Given the description of an element on the screen output the (x, y) to click on. 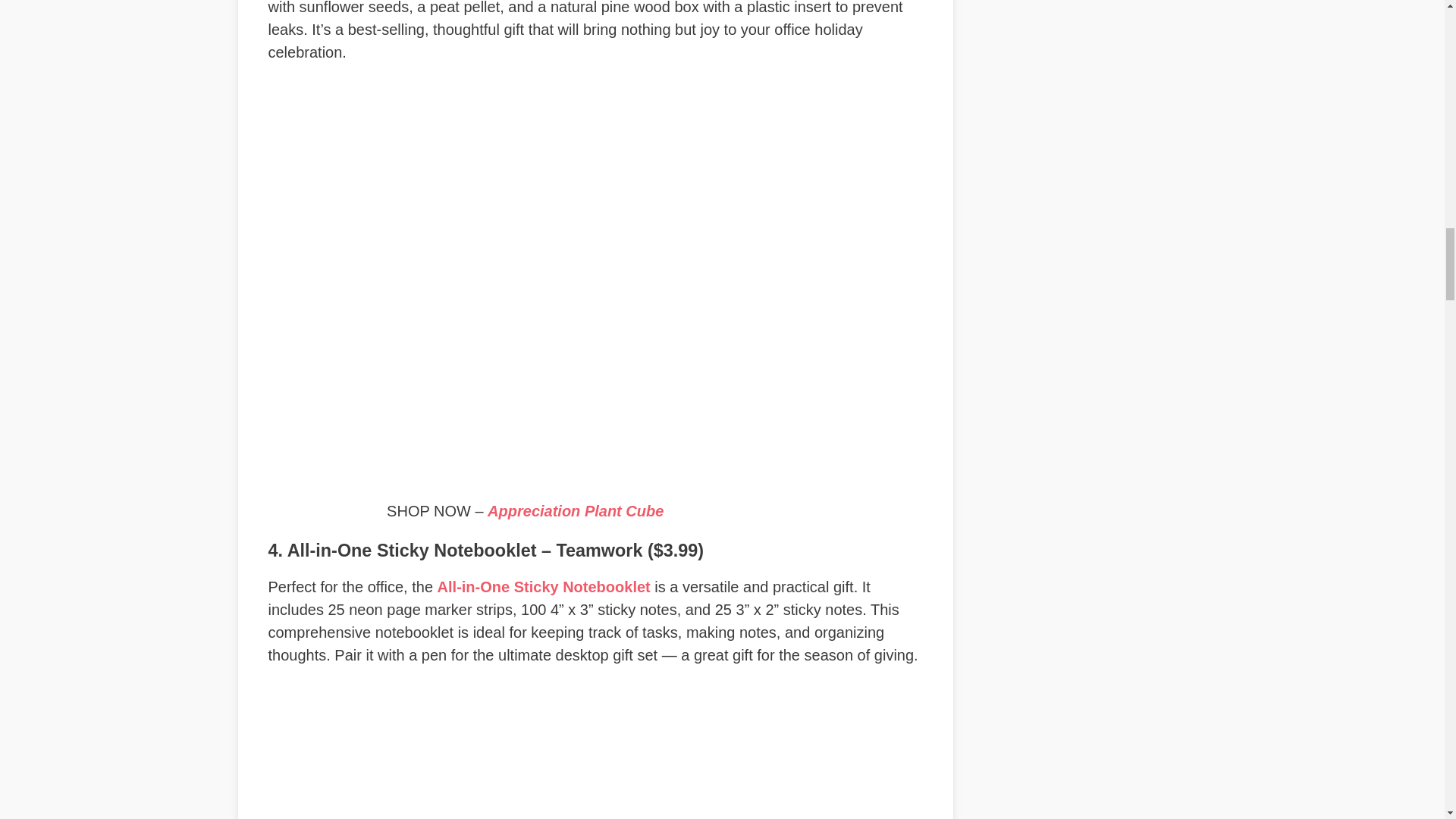
Appreciation Plant Cube (575, 510)
